Given the description of an element on the screen output the (x, y) to click on. 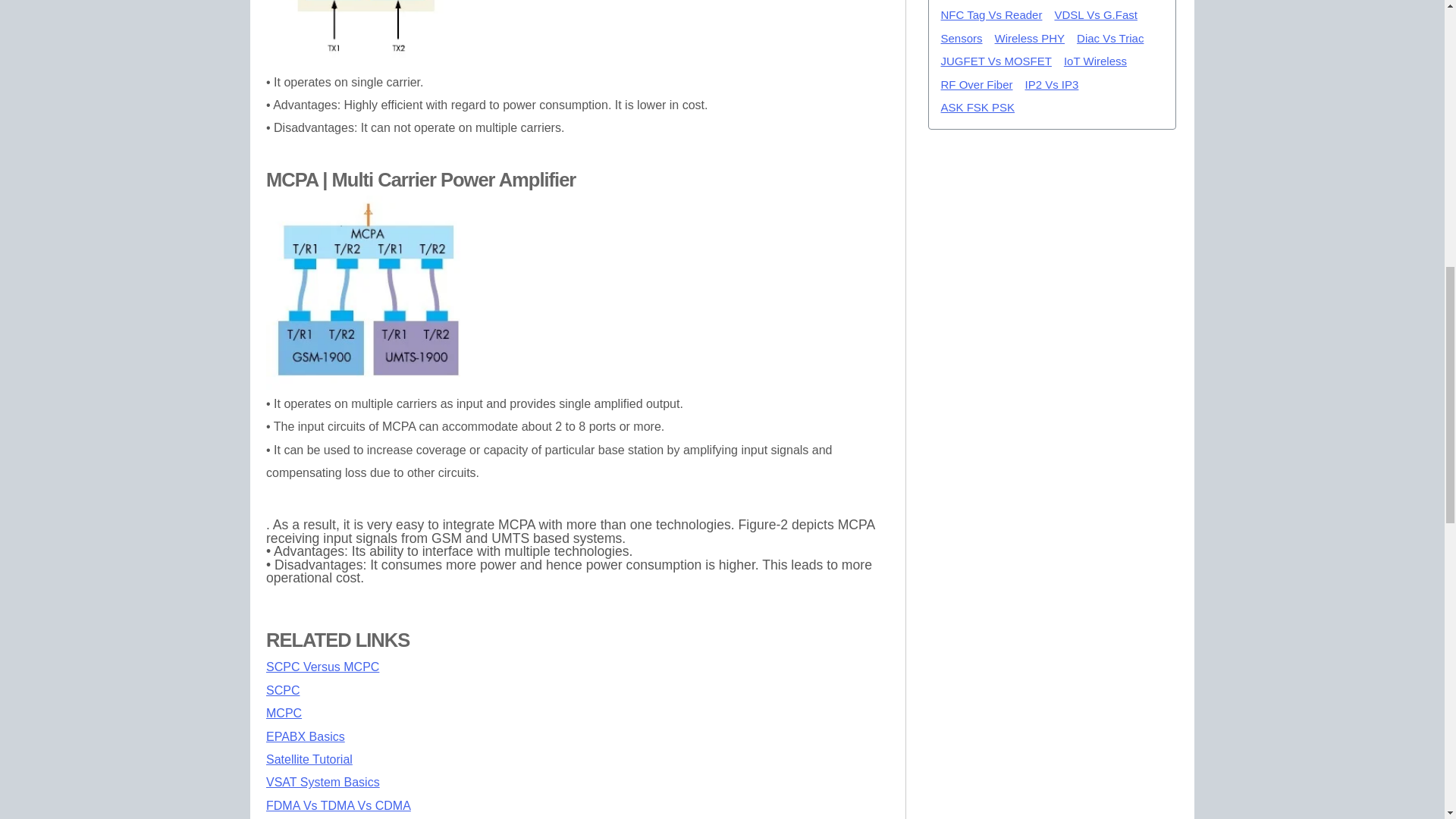
FDMA versus TDMA versus CDMA (338, 805)
MCPC (283, 712)
VSAT System Basics (323, 781)
FDMA Vs TDMA Vs CDMA (338, 805)
Satellite Tutorial (309, 758)
SCPC Versus MCPC (322, 666)
EPABX Basics (305, 736)
SCPC (282, 689)
